Given the description of an element on the screen output the (x, y) to click on. 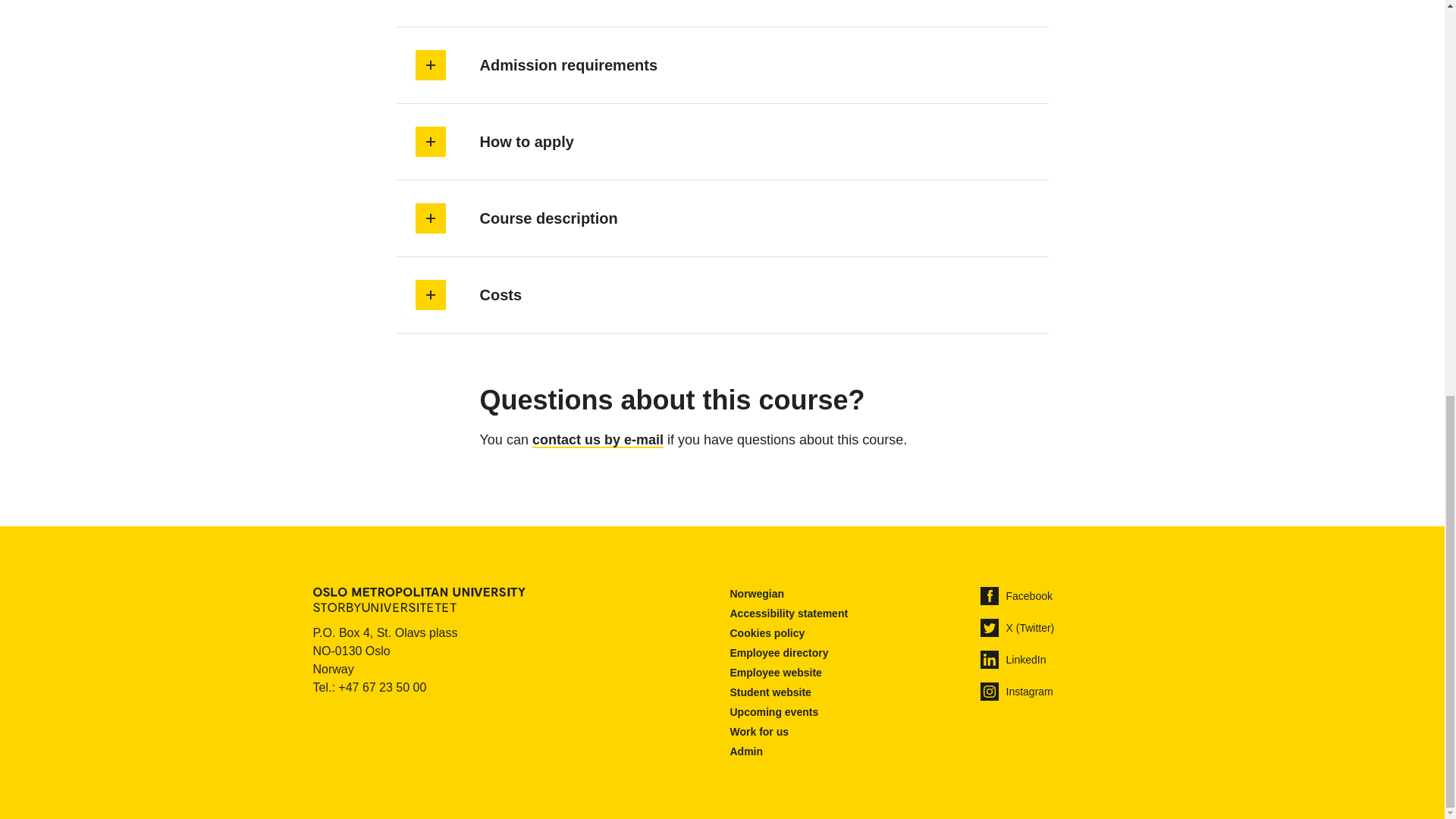
Admin (745, 751)
Work for us (759, 731)
Norwegian (756, 594)
Student website (769, 692)
Upcoming events (773, 712)
Accessibility statement (788, 613)
contact us by e-mail (597, 439)
Instagram (1015, 691)
Facebook (1015, 596)
Employee website (775, 672)
